Given the description of an element on the screen output the (x, y) to click on. 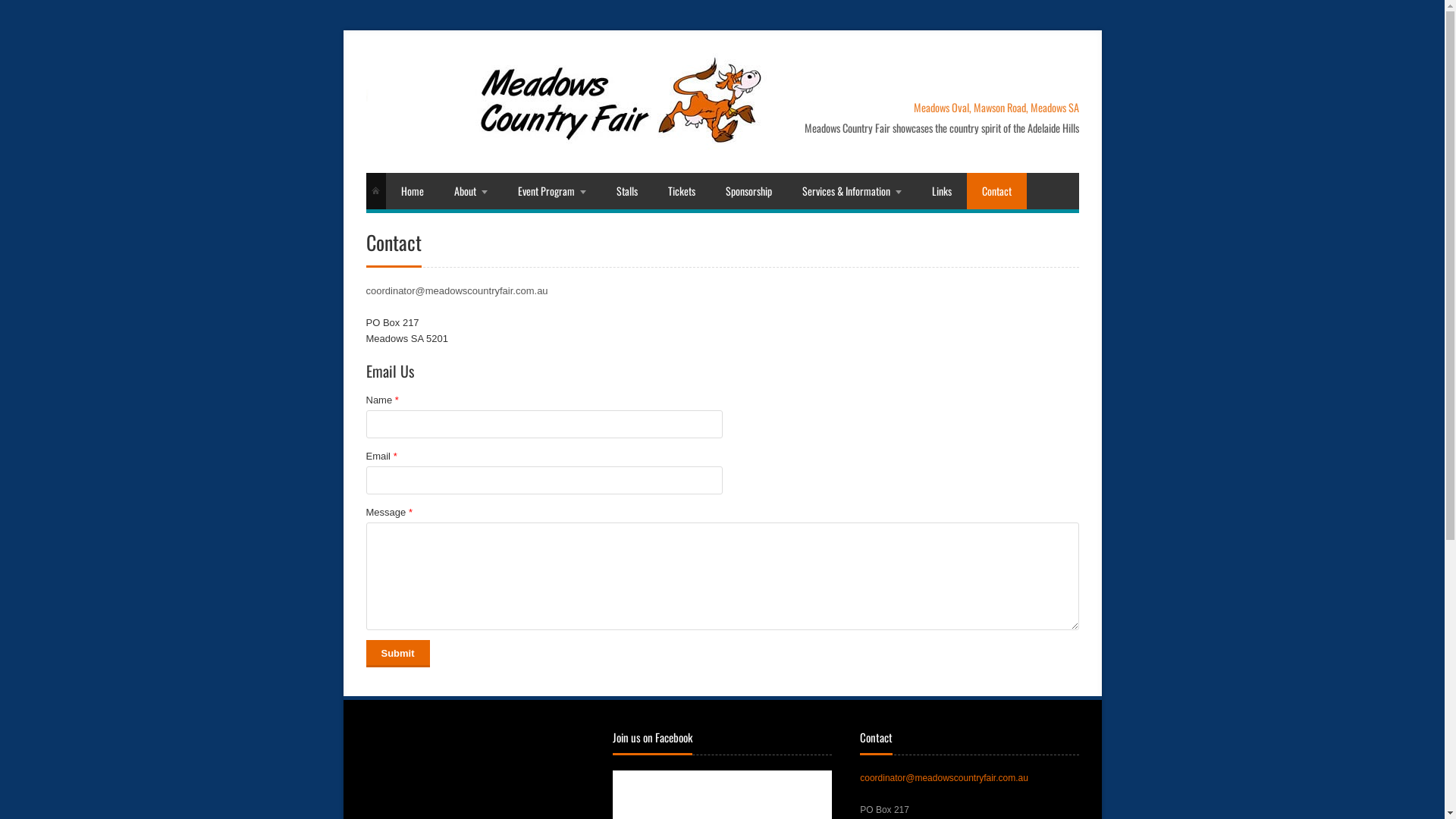
coordinator@meadowscountryfair.com.au Element type: text (456, 290)
Home Element type: text (411, 190)
Submit Element type: text (397, 654)
coordinator@meadowscountryfair.com.au Element type: text (943, 777)
Tickets Element type: text (680, 190)
About Element type: text (470, 190)
Links Element type: text (941, 190)
Services & Information Element type: text (851, 190)
Sponsorship Element type: text (747, 190)
Event Program Element type: text (551, 190)
Stalls Element type: text (626, 190)
Contact Element type: text (996, 190)
